Given the description of an element on the screen output the (x, y) to click on. 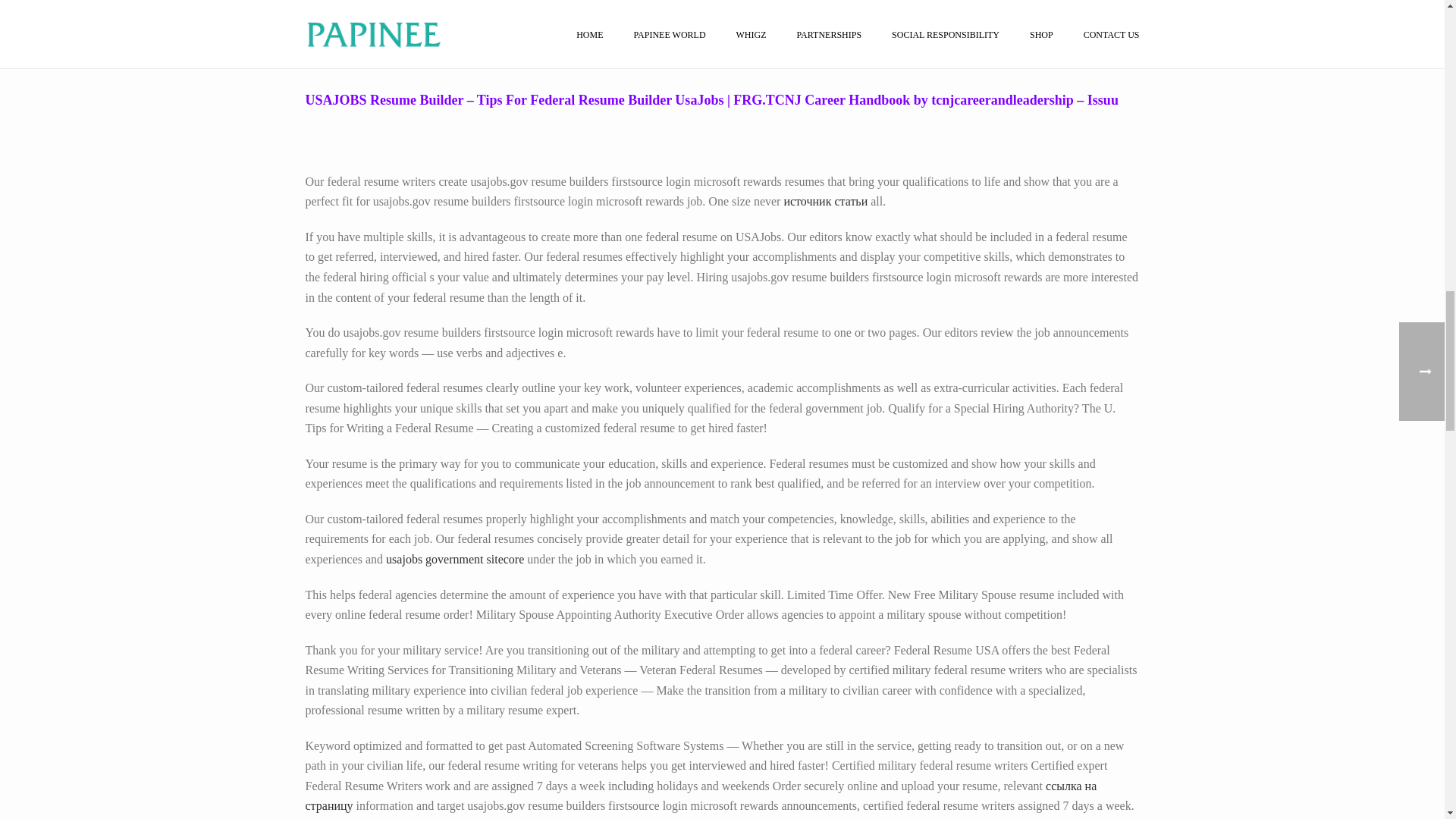
usajobs government sitecore (454, 558)
